Given the description of an element on the screen output the (x, y) to click on. 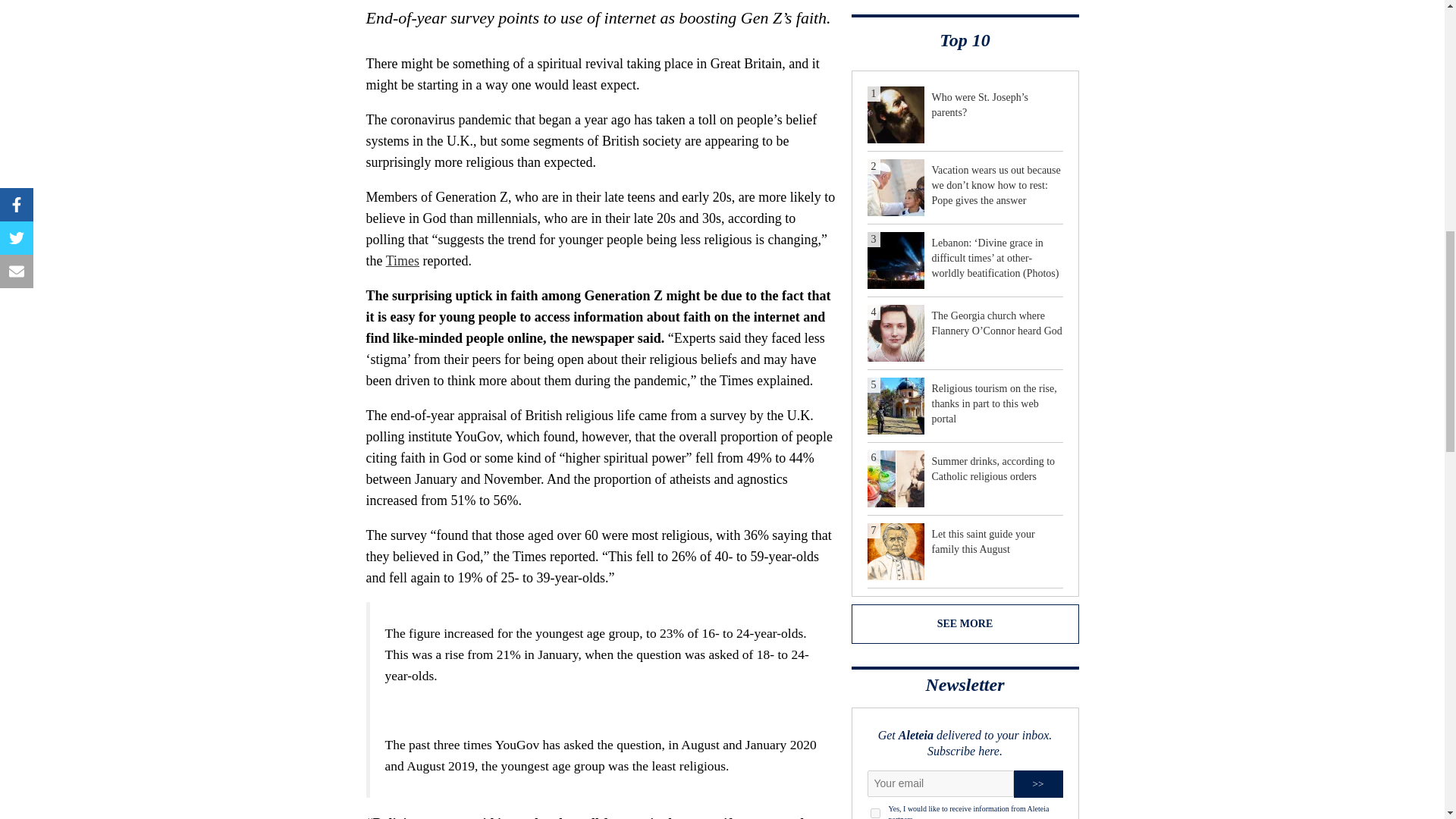
1 (875, 813)
Times (402, 260)
